Given the description of an element on the screen output the (x, y) to click on. 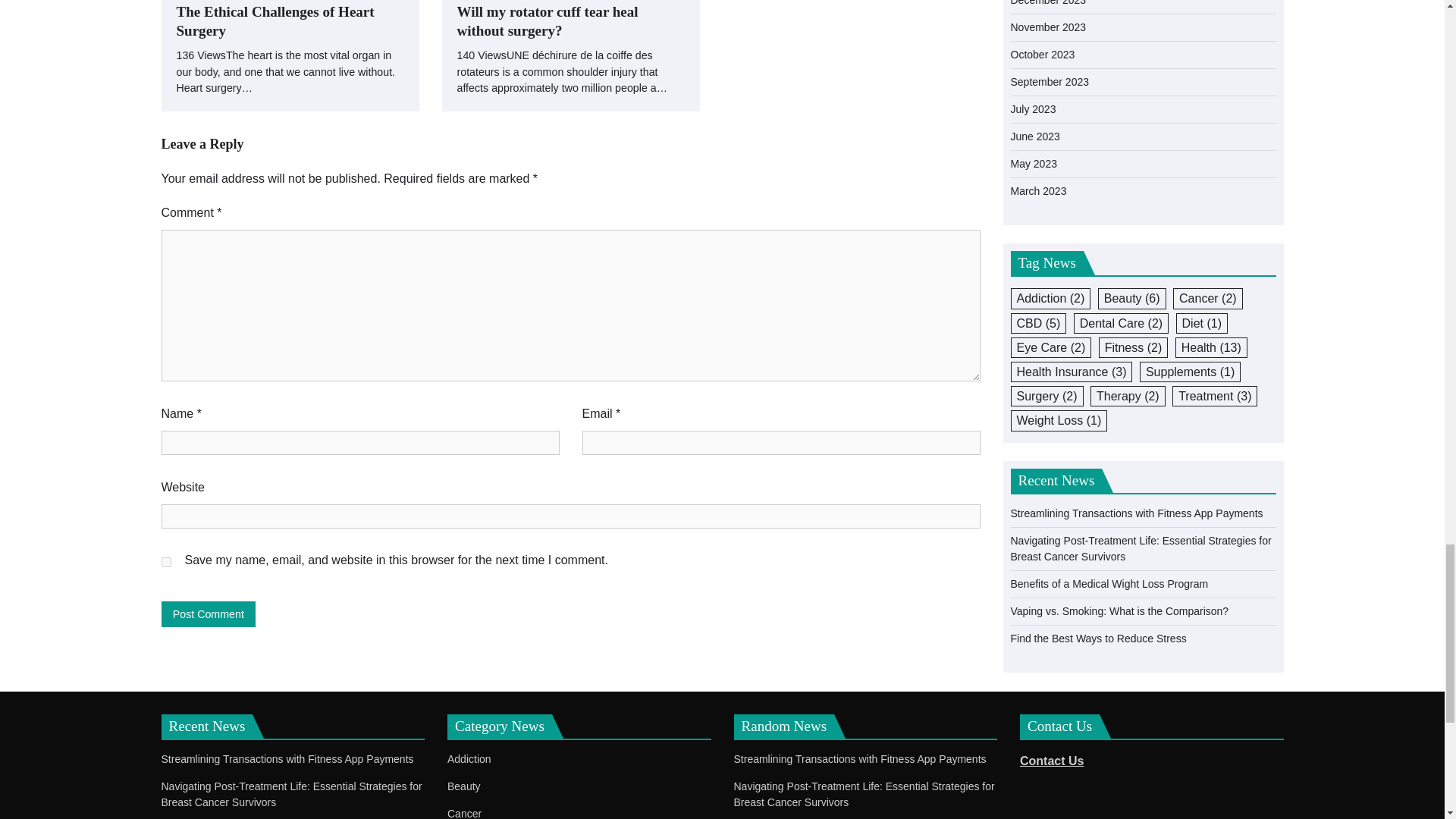
Post Comment (208, 613)
Will my rotator cuff tear heal without surgery? (570, 21)
yes (165, 562)
The Ethical Challenges of Heart Surgery (289, 21)
